Given the description of an element on the screen output the (x, y) to click on. 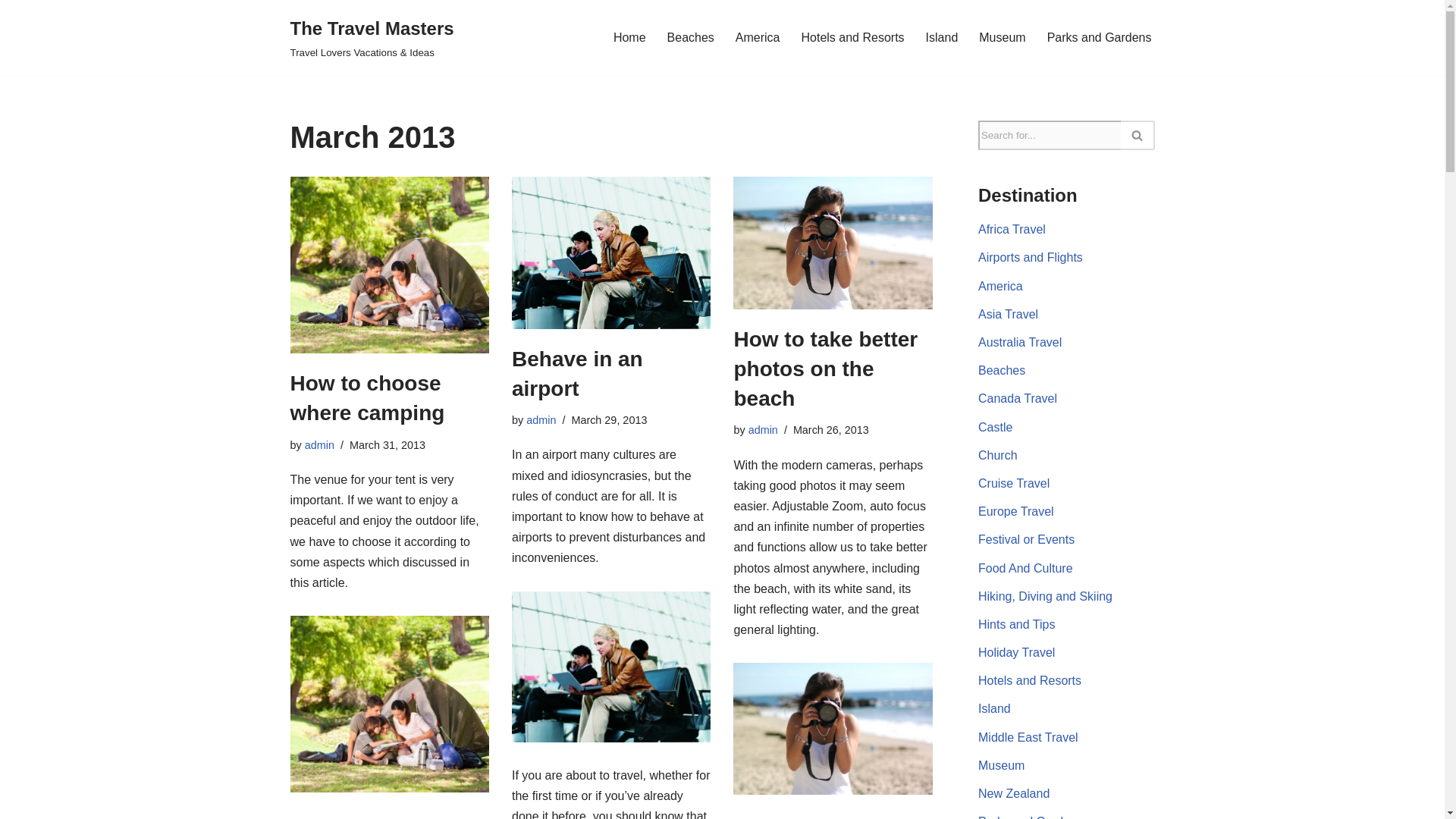
admin (540, 419)
How to take better photos on the beach (825, 368)
How to choose where camping (366, 398)
Skip to content (11, 31)
Island (942, 37)
How to take better photos on the beach (832, 242)
Behave in an airport (611, 252)
How to choose where camping (388, 264)
Hotels and Resorts (853, 37)
Posts by admin (762, 429)
